Given the description of an element on the screen output the (x, y) to click on. 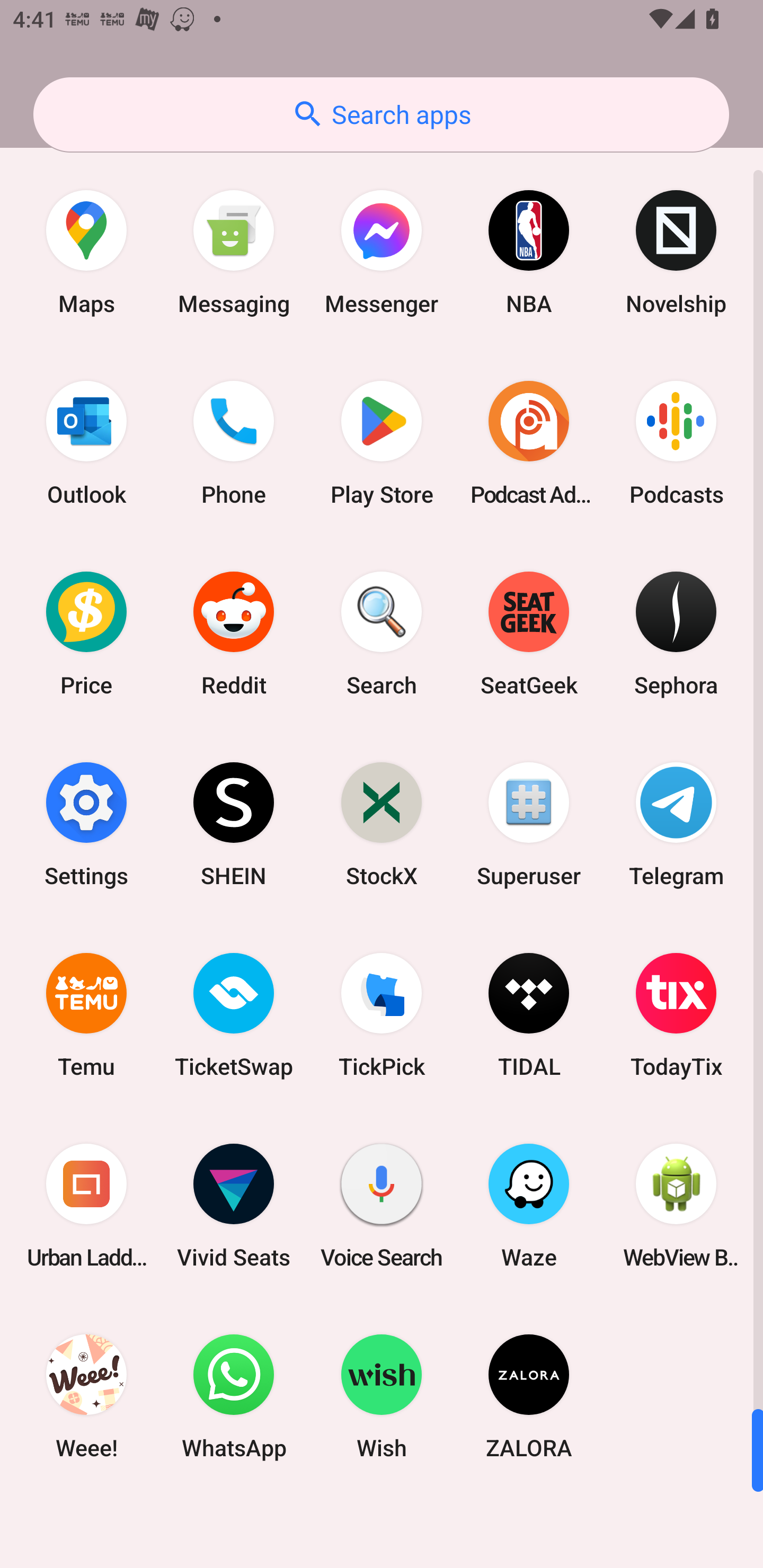
  Search apps (381, 114)
Maps (86, 252)
Messaging (233, 252)
Messenger (381, 252)
NBA (528, 252)
Novelship (676, 252)
Outlook (86, 442)
Phone (233, 442)
Play Store (381, 442)
Podcast Addict (528, 442)
Podcasts (676, 442)
Price (86, 633)
Reddit (233, 633)
Search (381, 633)
SeatGeek (528, 633)
Sephora (676, 633)
Settings (86, 823)
SHEIN (233, 823)
StockX (381, 823)
Superuser (528, 823)
Telegram (676, 823)
Temu (86, 1014)
TicketSwap (233, 1014)
TickPick (381, 1014)
TIDAL (528, 1014)
TodayTix (676, 1014)
Urban Ladder (86, 1205)
Vivid Seats (233, 1205)
Voice Search (381, 1205)
Waze (528, 1205)
WebView Browser Tester (676, 1205)
Weee! (86, 1396)
WhatsApp (233, 1396)
Wish (381, 1396)
ZALORA (528, 1396)
